Given the description of an element on the screen output the (x, y) to click on. 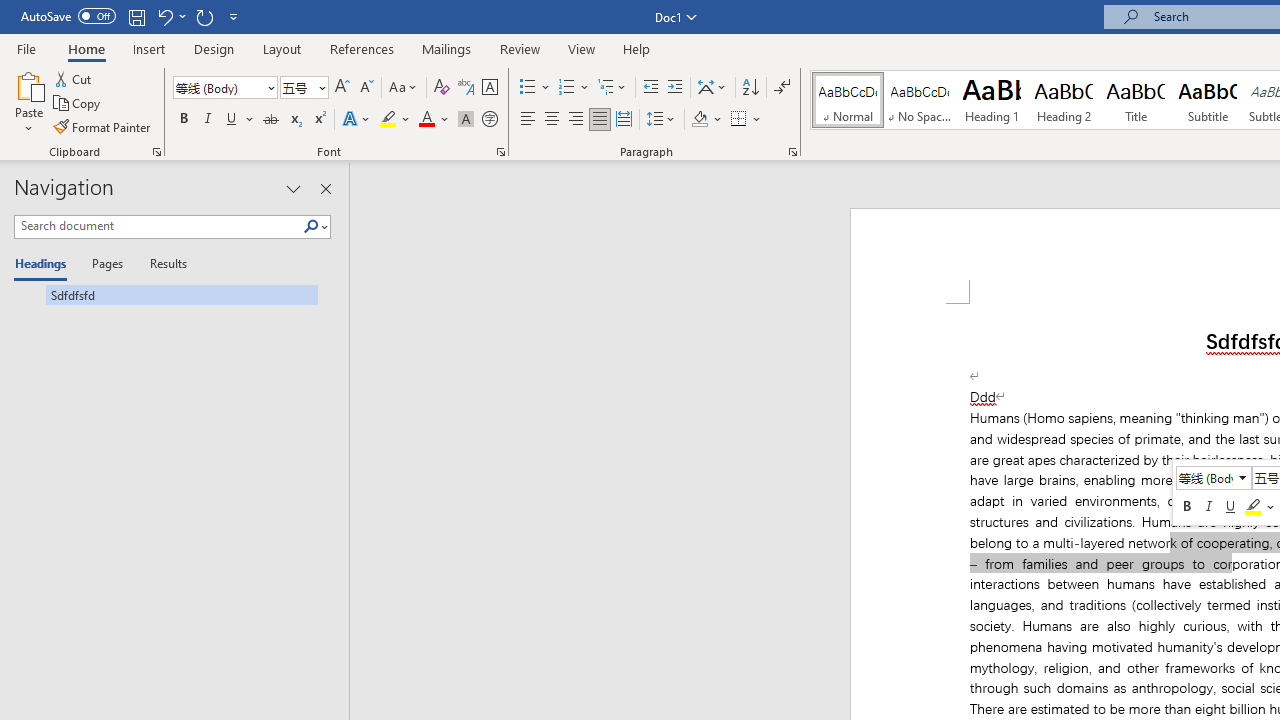
Subtitle (1208, 100)
